Given the description of an element on the screen output the (x, y) to click on. 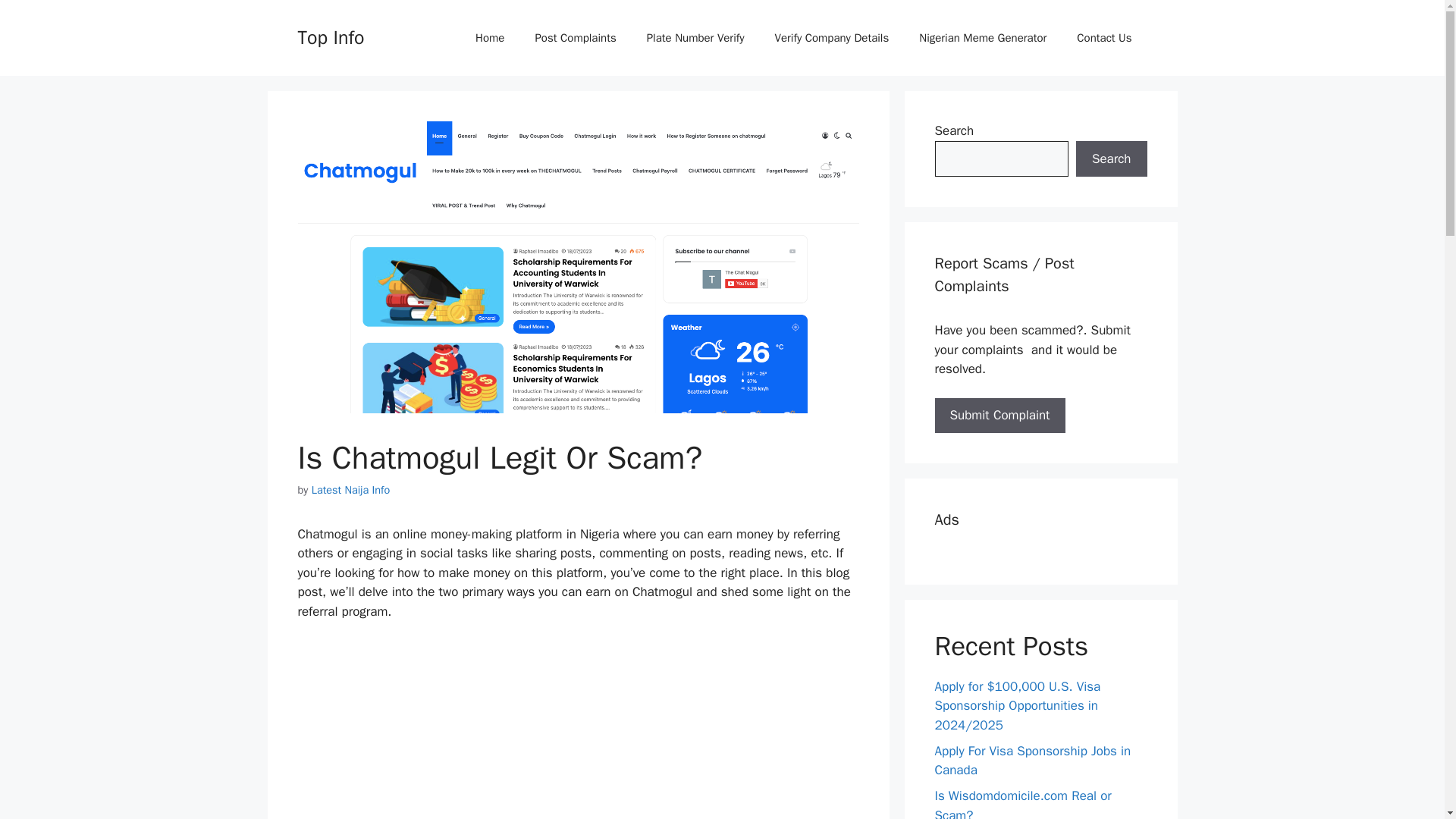
Post Complaints (574, 37)
Latest Naija Info (350, 489)
Apply For Visa Sponsorship Jobs in Canada (1032, 760)
Nigerian Meme Generator (982, 37)
Home (489, 37)
Submit Complaint (999, 415)
Search (1111, 158)
Advertisement (578, 729)
Plate Number Verify (695, 37)
Verify Company Details (832, 37)
View all posts by Latest Naija Info (350, 489)
Contact Us (1104, 37)
Top Info (330, 37)
Is Wisdomdomicile.com Real or Scam? (1022, 803)
